Given the description of an element on the screen output the (x, y) to click on. 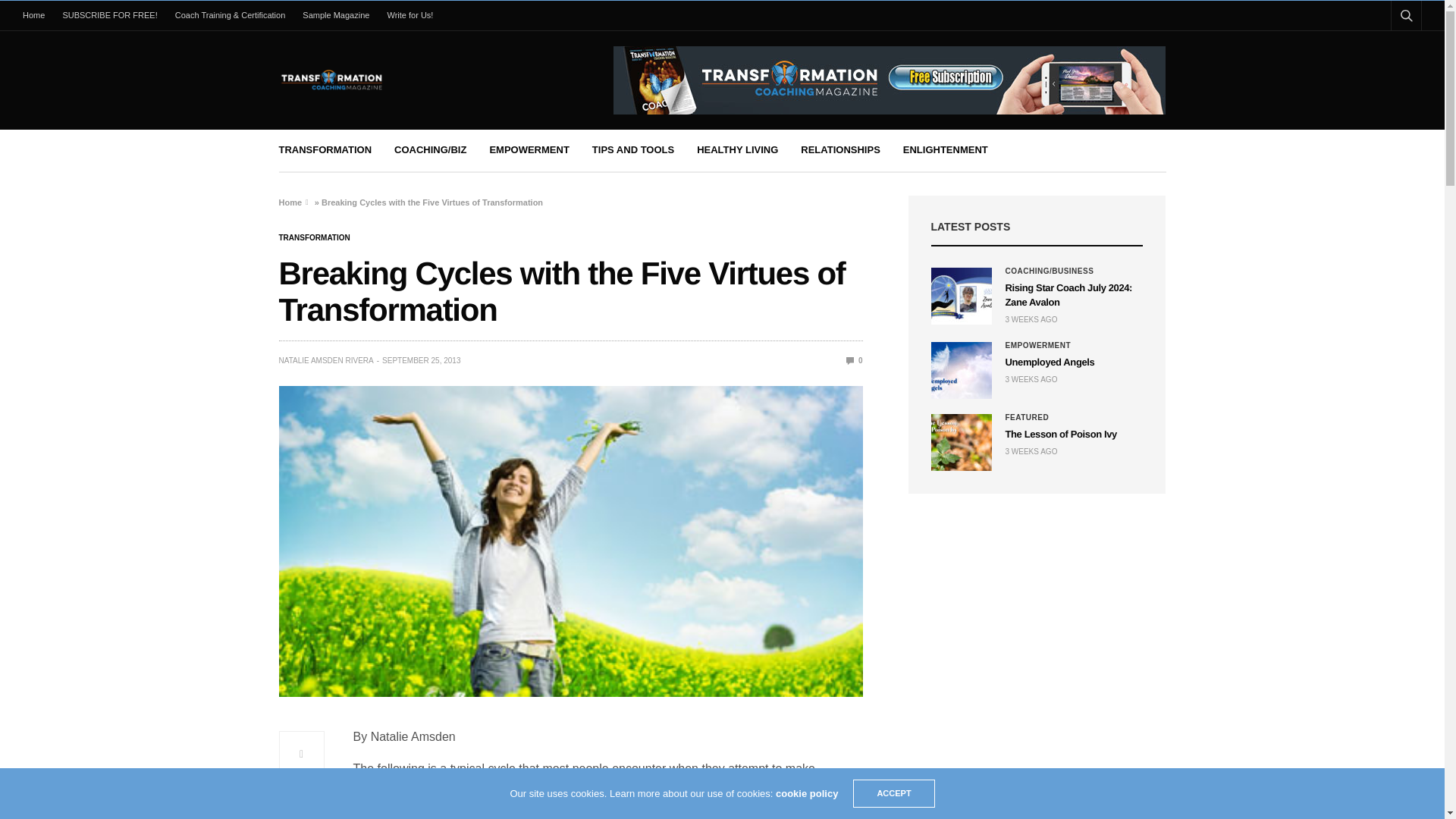
Write for Us! (409, 15)
Home (290, 202)
Sample Magazine (336, 15)
TRANSFORMATION (314, 237)
EMPOWERMENT (529, 150)
NATALIE AMSDEN RIVERA (326, 360)
Transformation (314, 237)
TIPS AND TOOLS (633, 150)
SUBSCRIBE FOR FREE! (109, 15)
0 (853, 360)
ENLIGHTENMENT (945, 150)
TRANSFORMATION (325, 150)
Breaking Cycles with the Five Virtues of Transformation (853, 360)
Posts by Natalie Amsden Rivera (326, 360)
HEALTHY LIVING (737, 150)
